Given the description of an element on the screen output the (x, y) to click on. 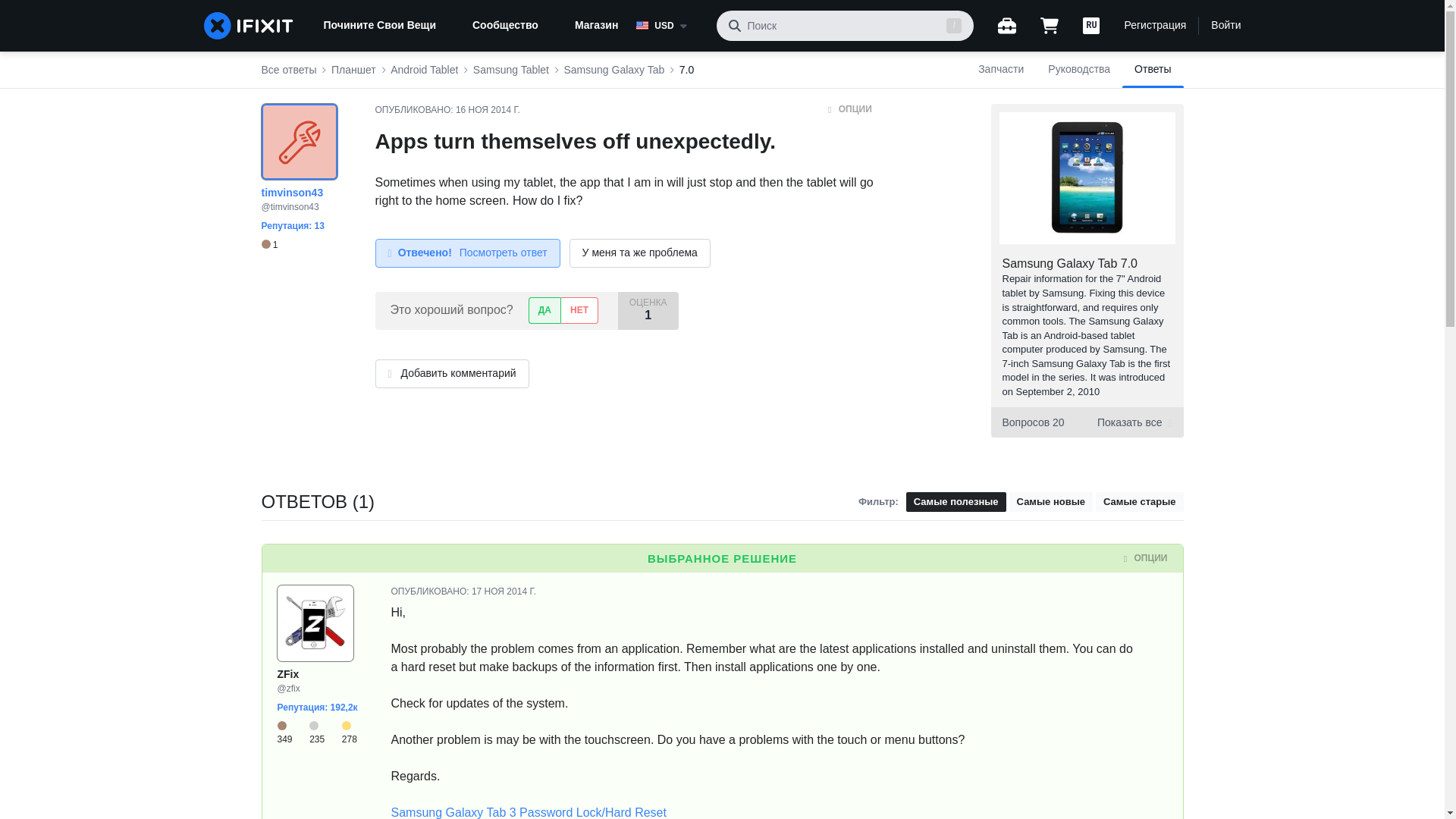
Samsung Galaxy Tab (613, 69)
Samsung Galaxy Tab 7.0 (1070, 263)
Sun, 16 Nov 2014 19:57:08 -0700 (487, 109)
USD (670, 25)
Android Tablet (424, 69)
Mon, 17 Nov 2014 00:19:49 -0700 (503, 591)
Samsung Tablet (510, 69)
7.0 (686, 69)
1 (269, 245)
